Given the description of an element on the screen output the (x, y) to click on. 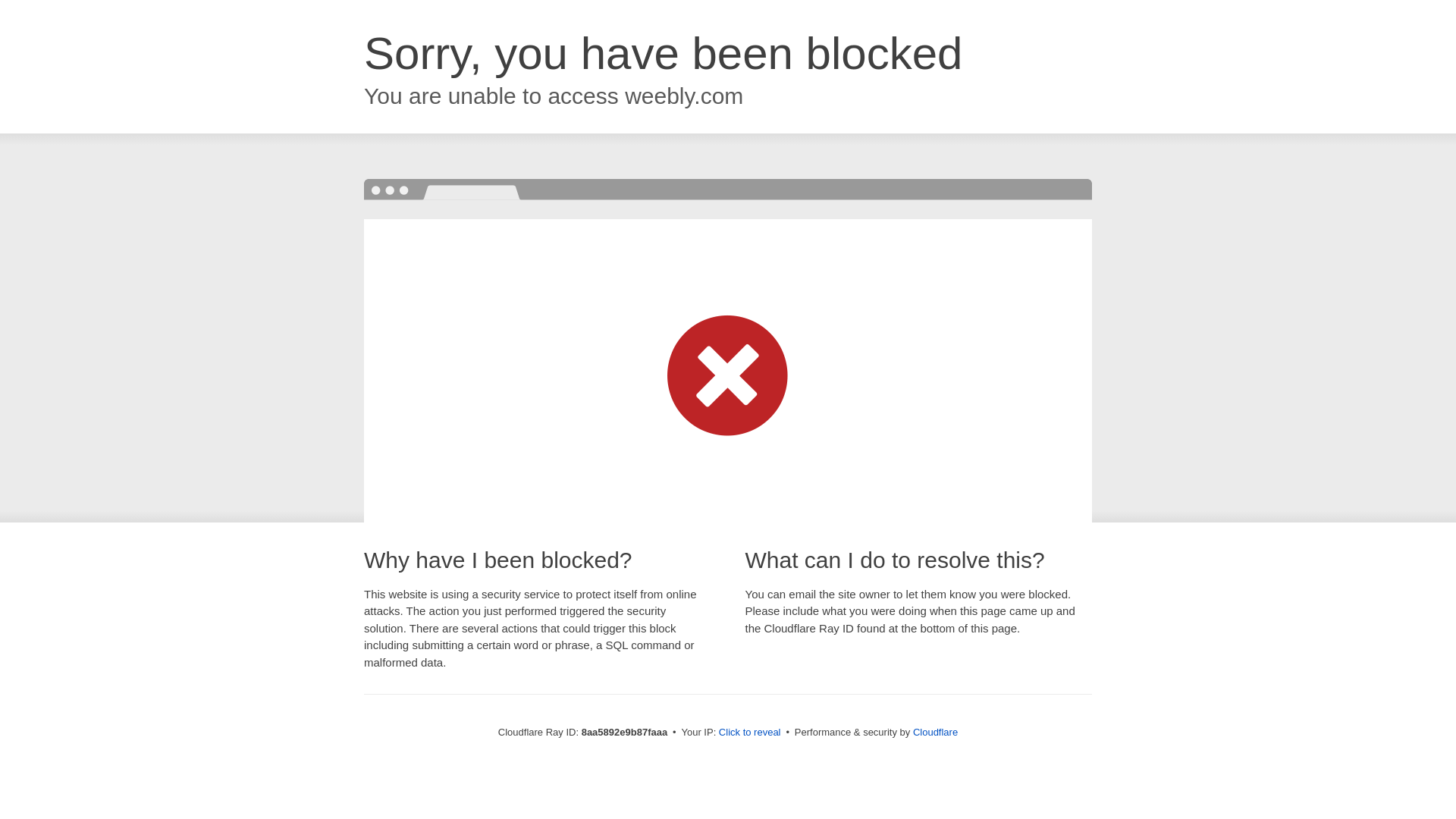
Cloudflare (935, 731)
Click to reveal (749, 732)
